Given the description of an element on the screen output the (x, y) to click on. 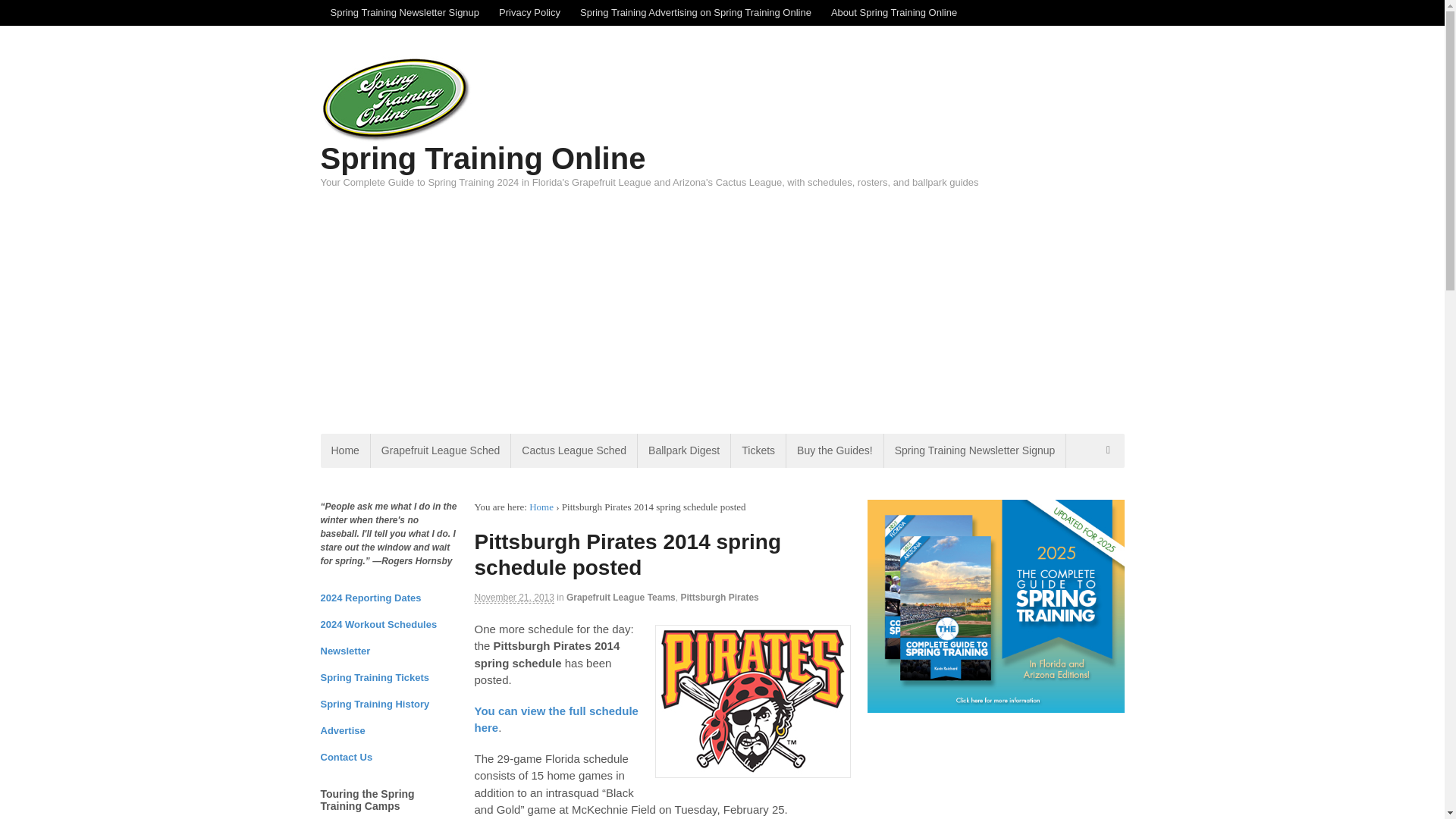
Buy the Guides! (834, 450)
Cactus League Sched (574, 450)
View all items in Pittsburgh Pirates (718, 597)
Spring Training Newsletter Signup (404, 12)
Spring Training Online (482, 158)
You can view the full schedule here (556, 719)
Spring Training Newsletter Signup (974, 450)
Advertisement (842, 293)
Home (541, 506)
Ballpark Digest (683, 450)
